Given the description of an element on the screen output the (x, y) to click on. 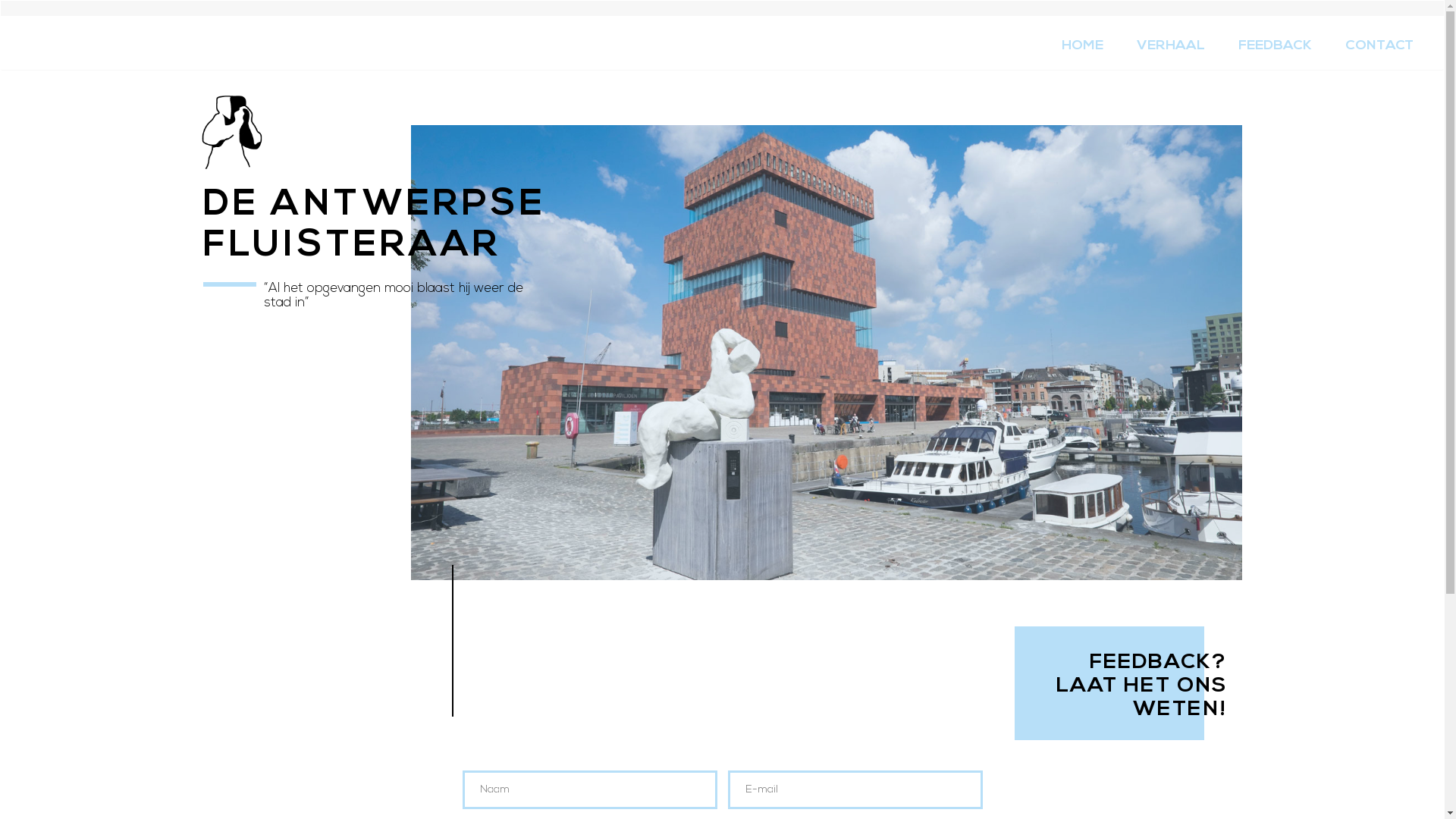
DE ANTWERPSE
FLUISTERAAR Element type: text (374, 190)
FEEDBACK Element type: text (1275, 46)
CONTACT Element type: text (1379, 46)
HOME Element type: text (1082, 46)
VERHAAL Element type: text (1170, 46)
